Given the description of an element on the screen output the (x, y) to click on. 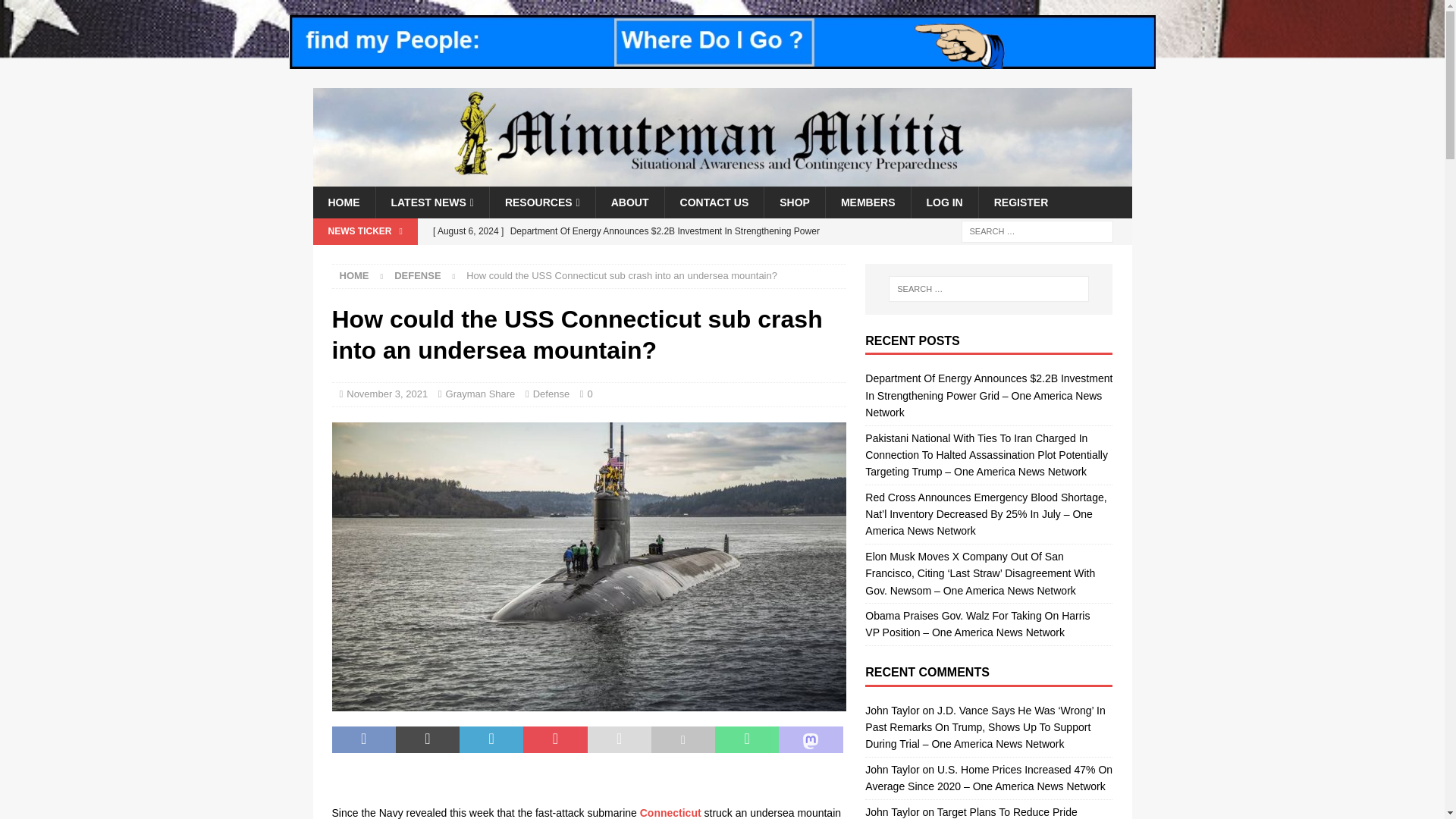
LOG IN (943, 202)
Tweet This Post (428, 739)
Share on LinkedIn (491, 739)
RESOURCES (542, 202)
Defense (417, 275)
Minuteman Militia (722, 177)
Pin This Post (554, 739)
Home (354, 275)
Send this article to a friend (619, 739)
HOME (343, 202)
Print this article (682, 739)
SHOP (793, 202)
MEMBERS (868, 202)
CONTACT US (713, 202)
